Given the description of an element on the screen output the (x, y) to click on. 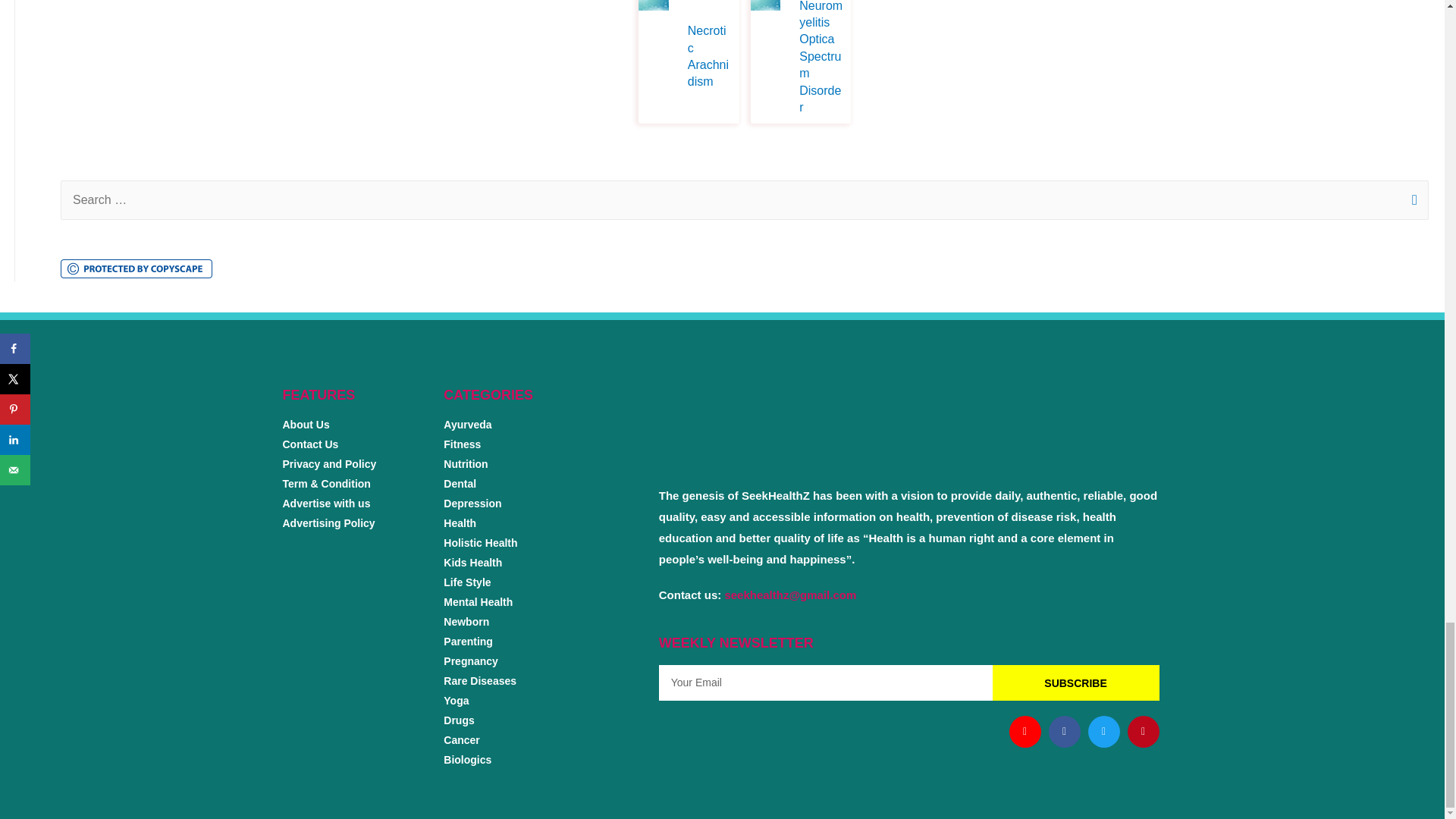
Protected by Copyscape - Do not copy content from this page. (136, 268)
Protected by Copyscape - Do not copy content from this page. (734, 775)
